Given the description of an element on the screen output the (x, y) to click on. 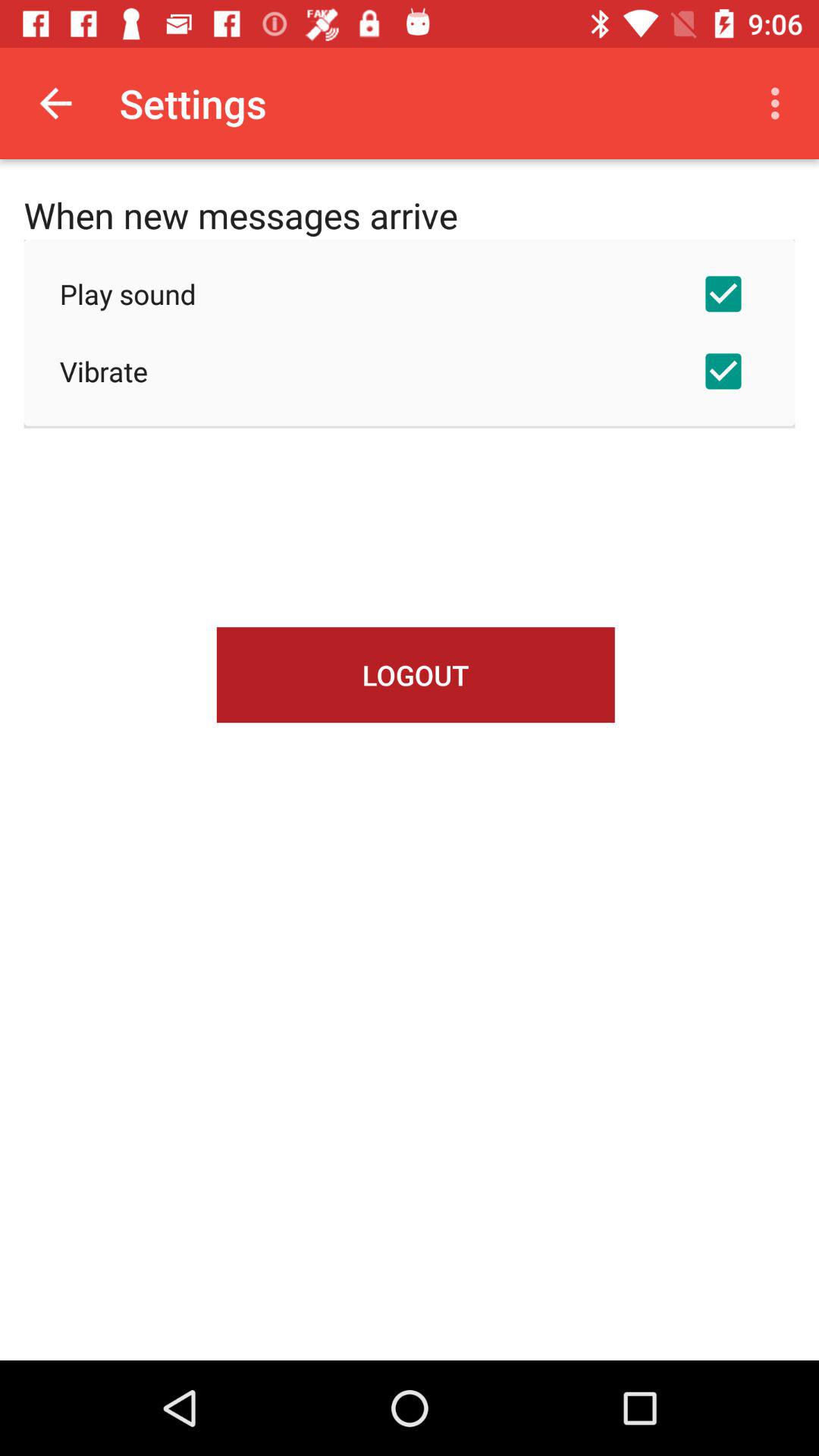
launch icon to the right of settings (779, 103)
